Given the description of an element on the screen output the (x, y) to click on. 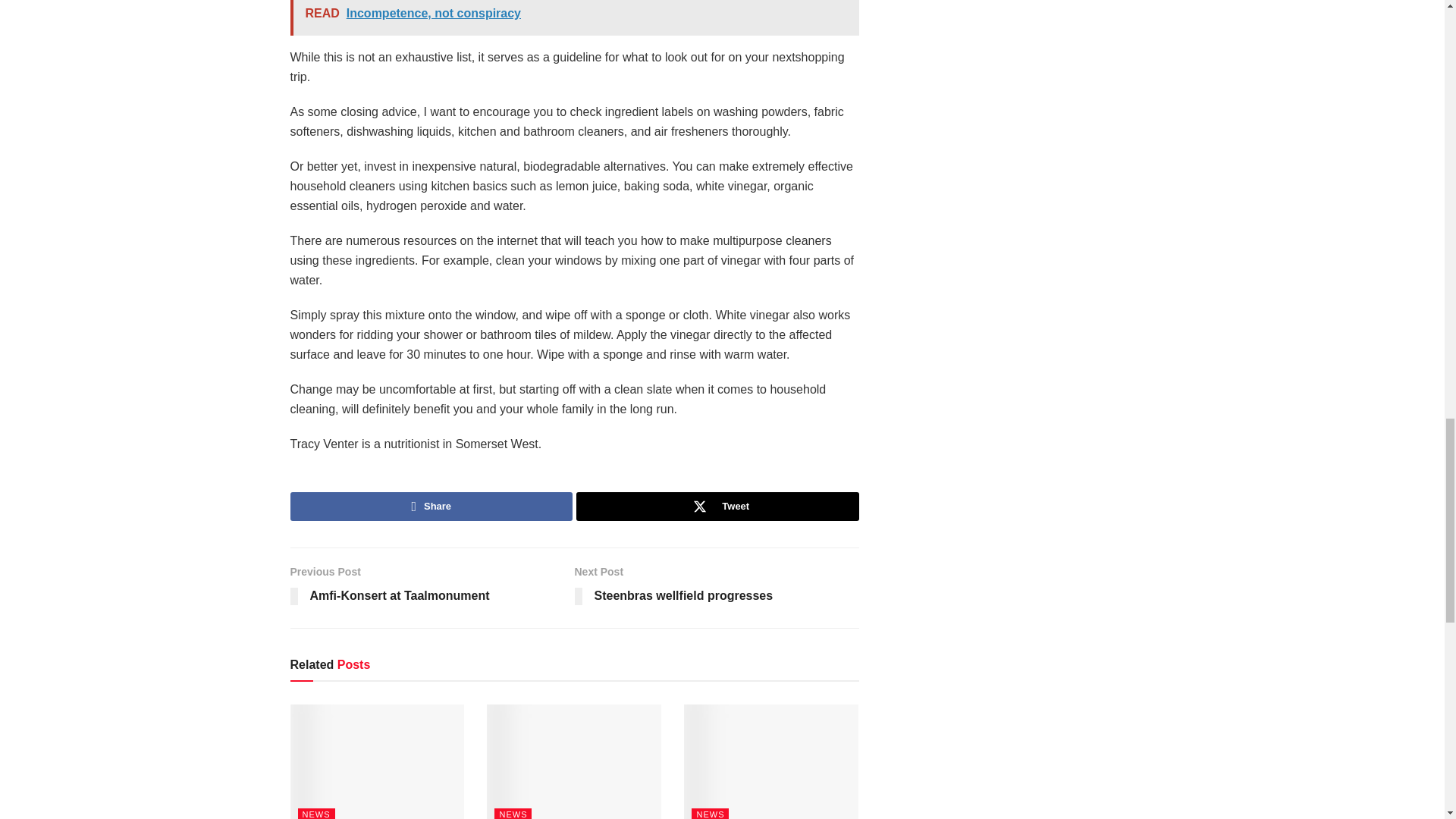
Share (430, 506)
Tweet (717, 506)
READ  Incompetence, not conspiracy (574, 18)
